Given the description of an element on the screen output the (x, y) to click on. 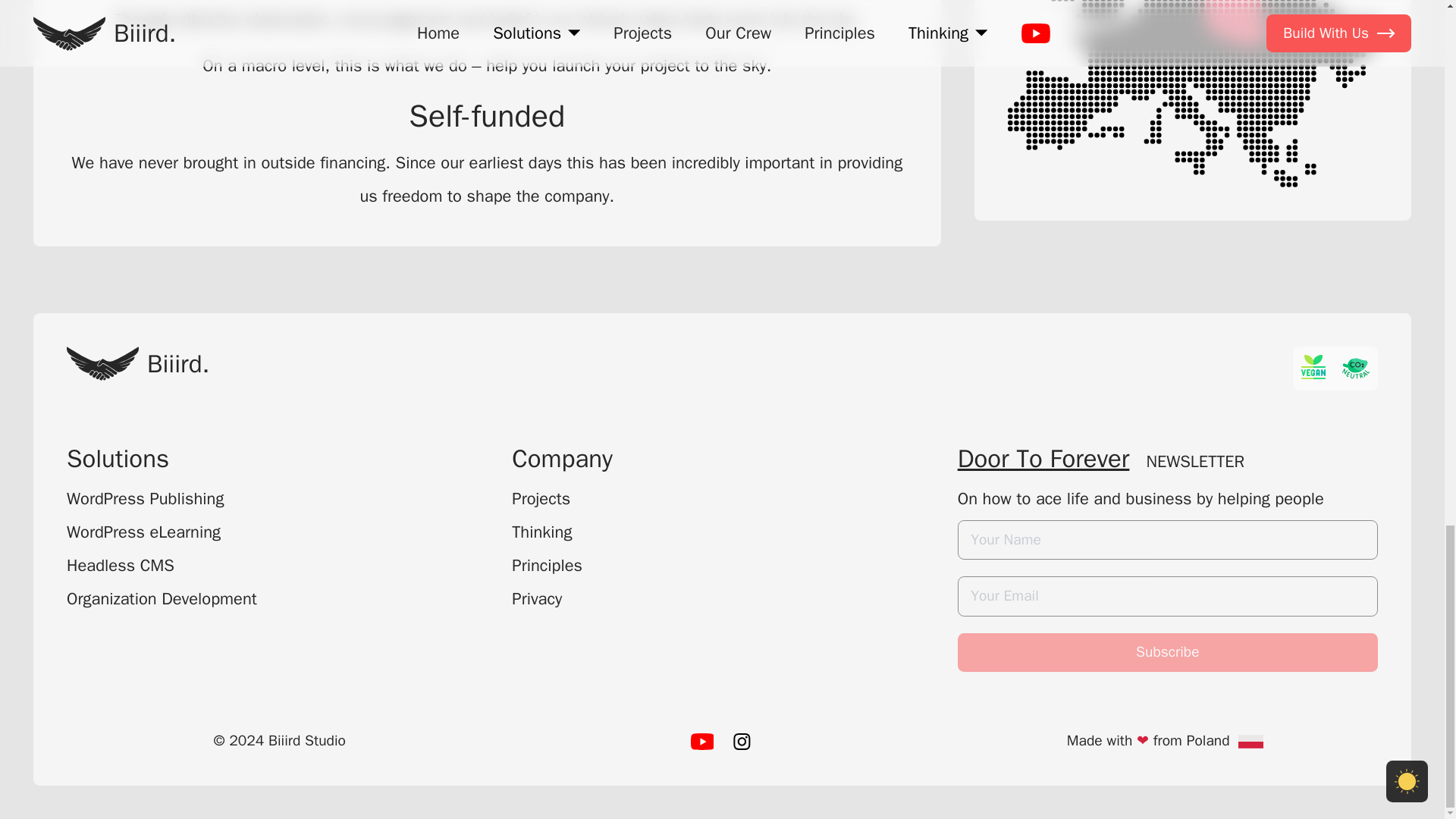
Instagram (742, 741)
Youtube (702, 741)
